Given the description of an element on the screen output the (x, y) to click on. 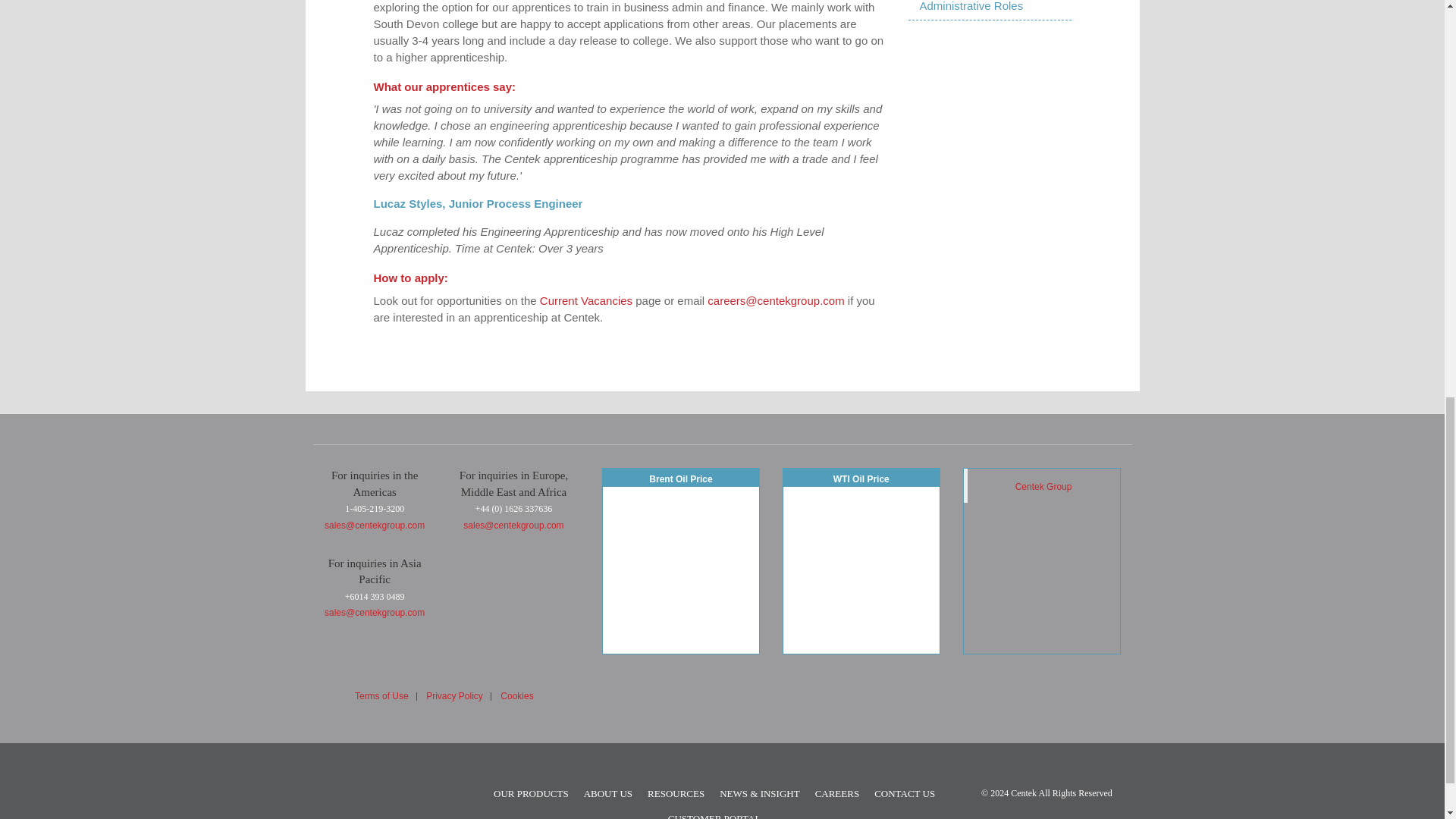
About Us (607, 793)
Cookies (516, 696)
Contact Us (904, 793)
Our Products (531, 793)
WTI Chart (861, 569)
Brent Chart (680, 569)
Terms of Use (381, 696)
Resources (675, 793)
Current Vacancies (585, 300)
Privacy Policy (455, 696)
Careers (837, 793)
